Given the description of an element on the screen output the (x, y) to click on. 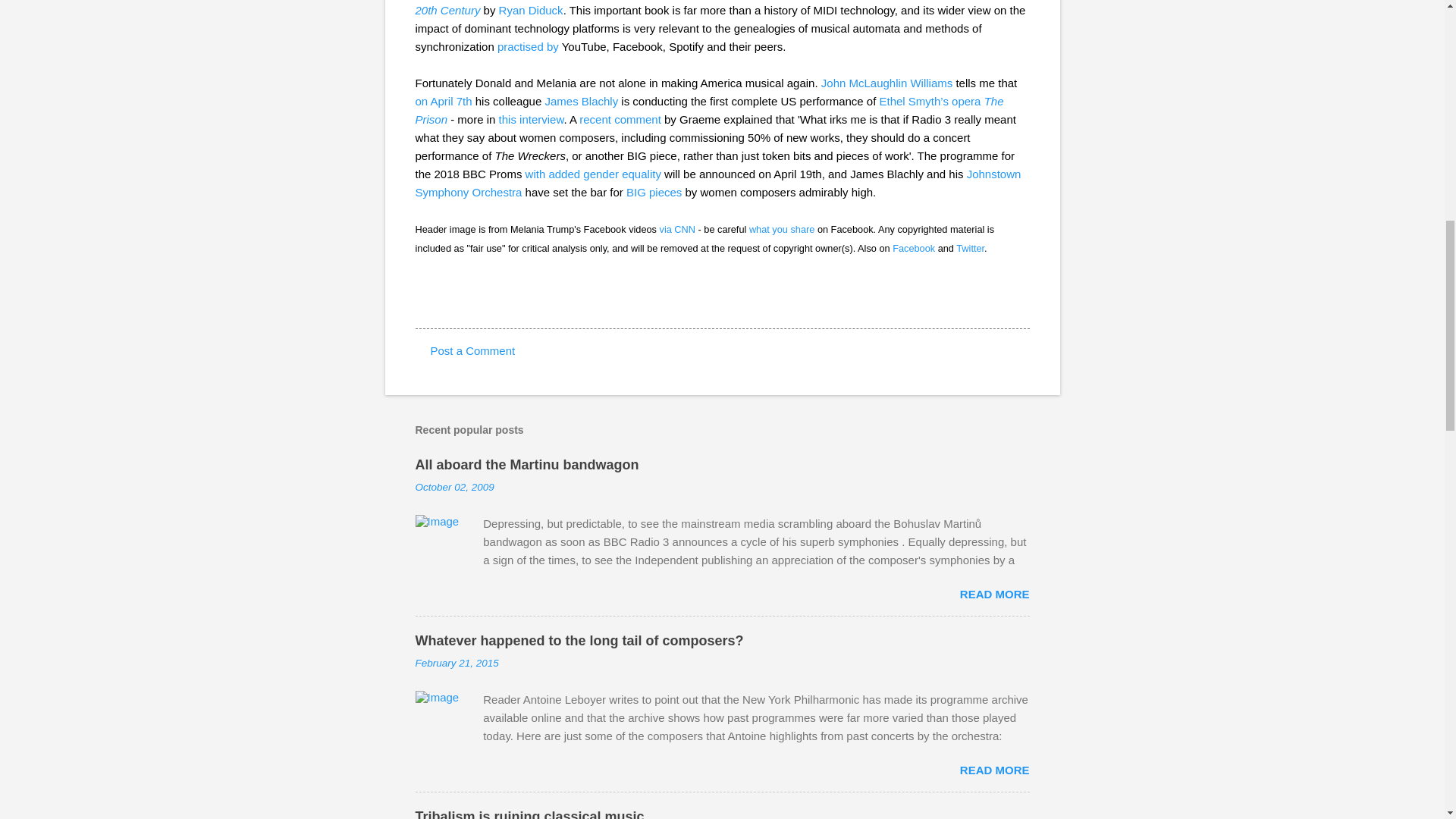
on April 7th (442, 101)
permanent link (454, 487)
James Blachly (580, 101)
READ MORE (994, 594)
Twitter (970, 247)
February 21, 2015 (456, 663)
this interview (531, 119)
Mad Skills: MIDI and Music Technology in the 20th Century (715, 8)
October 02, 2009 (454, 487)
All aboard the Martinu bandwagon (526, 464)
